Given the description of an element on the screen output the (x, y) to click on. 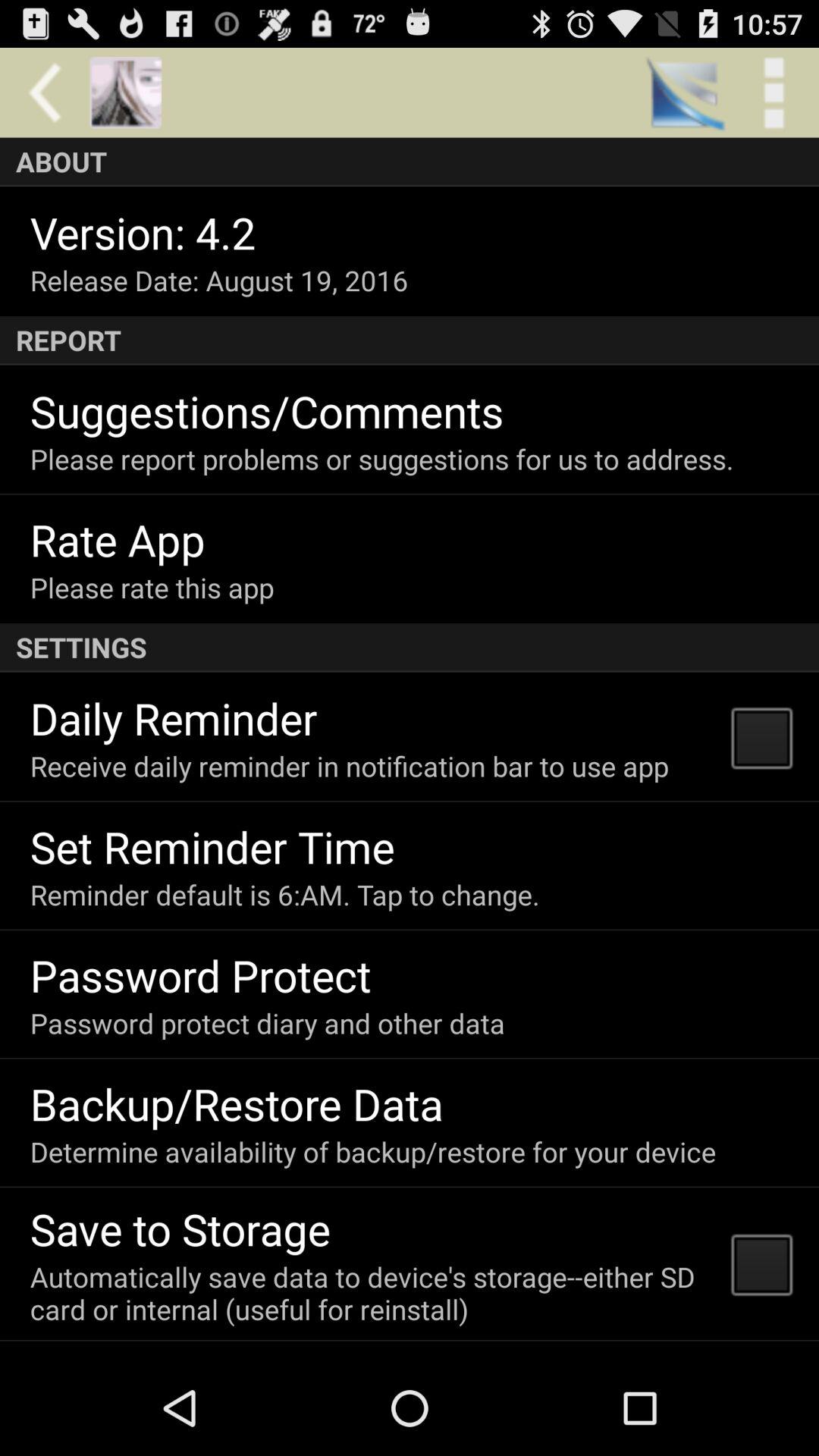
select the about (409, 161)
